Given the description of an element on the screen output the (x, y) to click on. 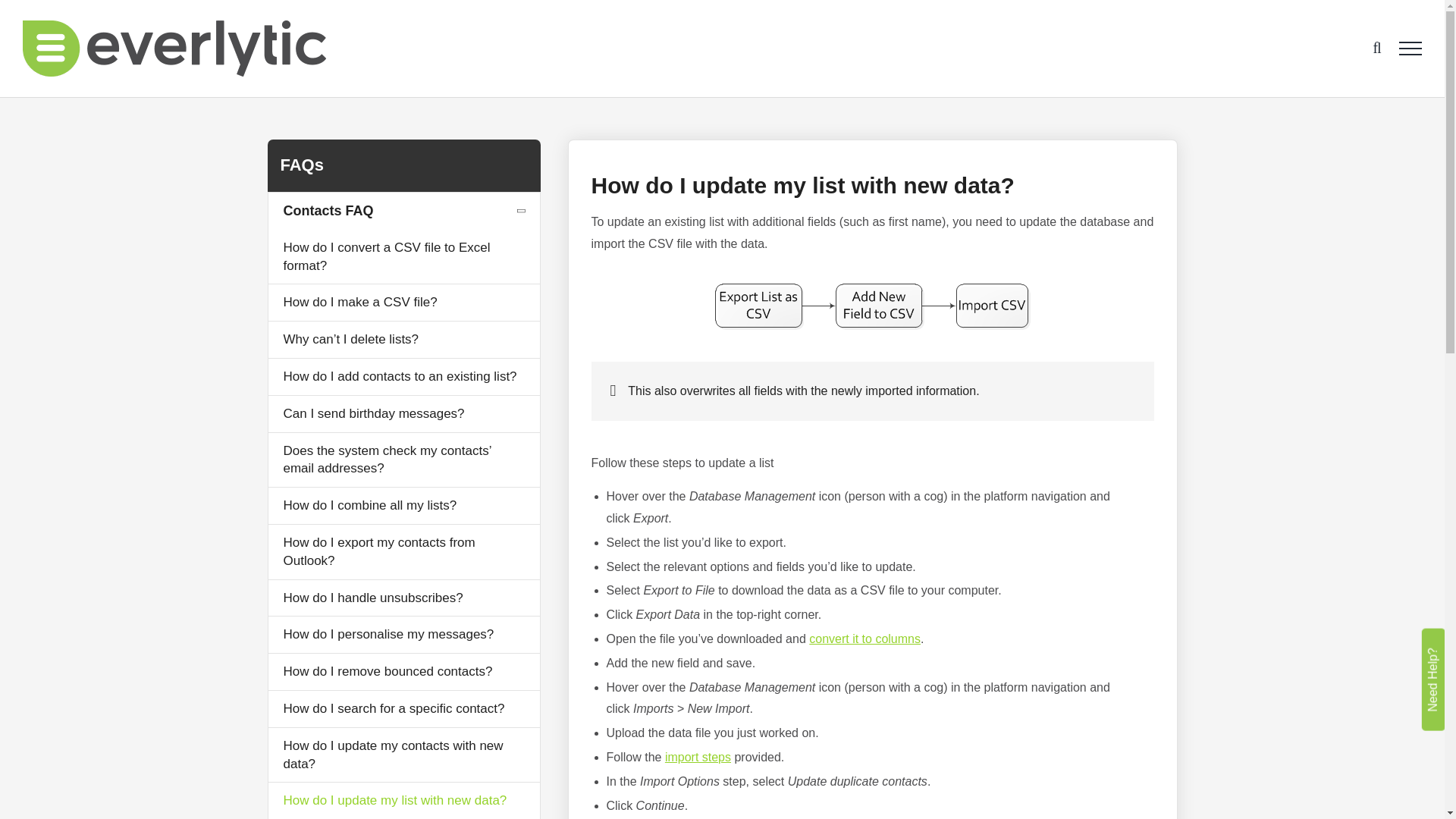
How do I handle unsubscribes? (403, 597)
How do I combine all my lists? (403, 505)
convert it to columns (864, 638)
Can I send birthday messages? (403, 413)
How do I update my contacts with new data? (403, 755)
How do I remove bounced contacts? (403, 671)
import steps (697, 757)
How do I add contacts to an existing list? (403, 376)
How do I personalise my messages? (403, 634)
How do I search for a specific contact? (403, 709)
How do I update my list with new data? (403, 800)
How do I export my contacts from Outlook? (403, 551)
Contacts FAQ (403, 211)
UpdateListFAQ (871, 306)
How do I convert a CSV file to Excel format? (403, 257)
